Given the description of an element on the screen output the (x, y) to click on. 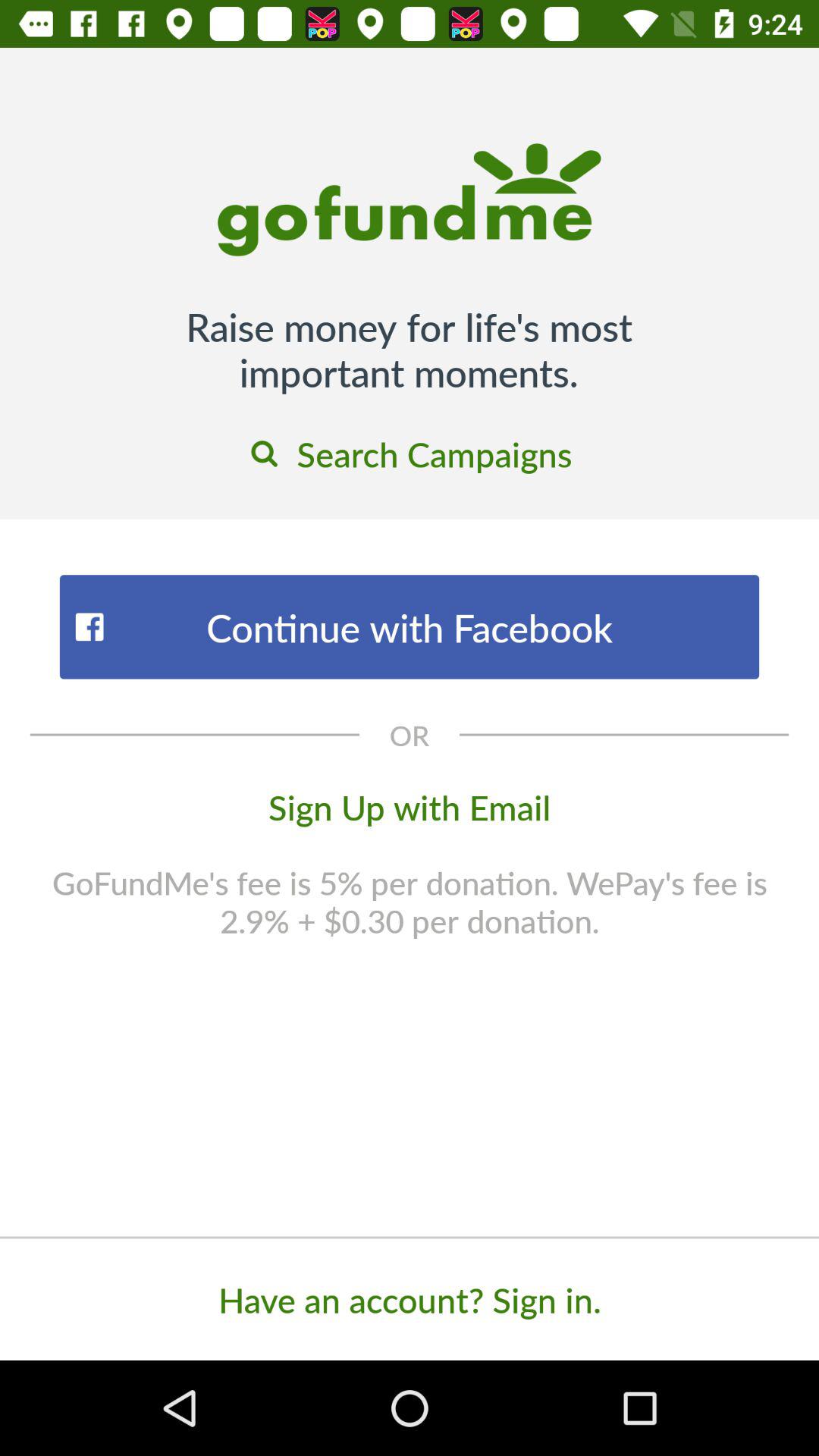
open the icon above the or (409, 627)
